Given the description of an element on the screen output the (x, y) to click on. 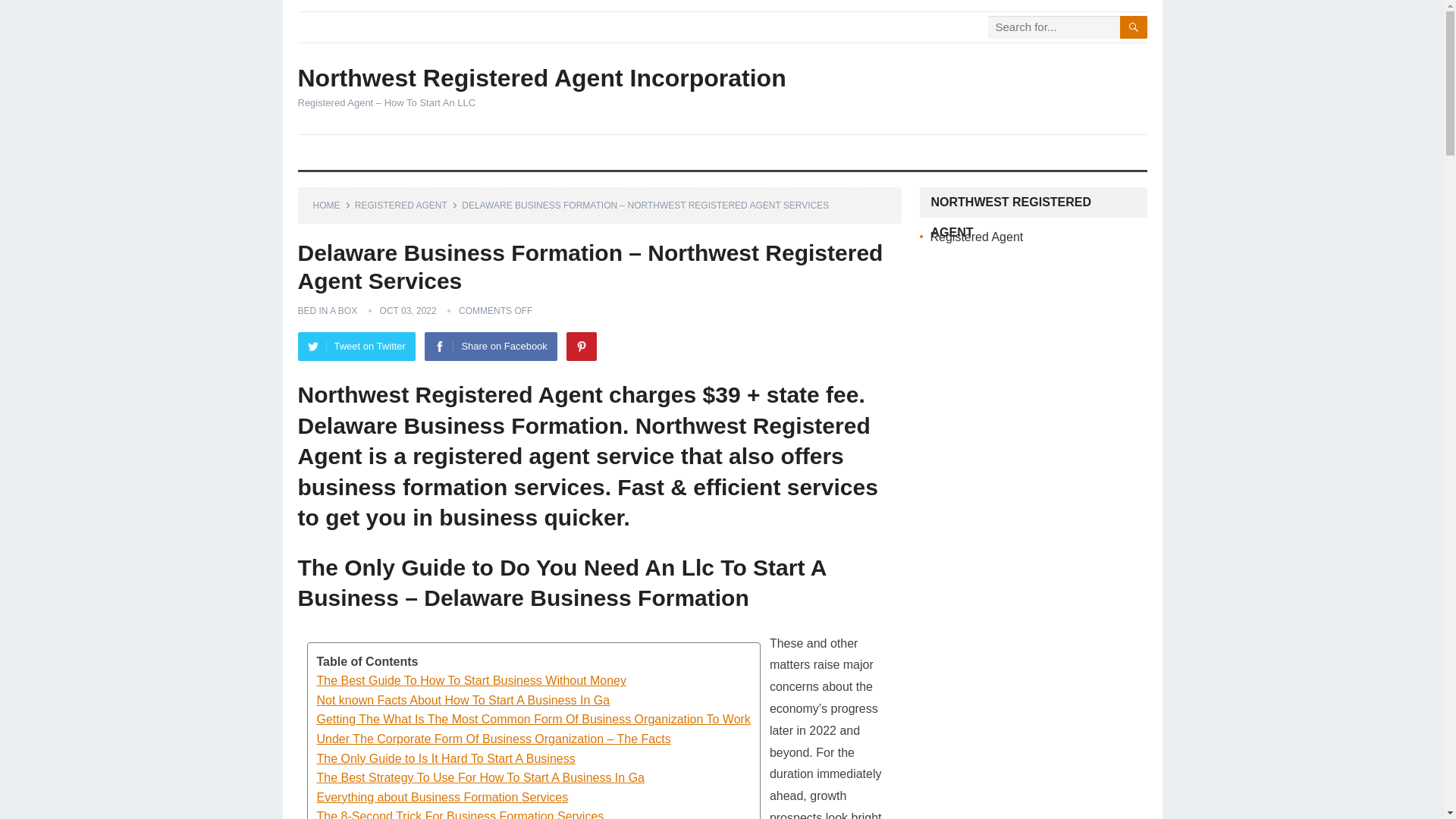
Posts by Bed In A Box (326, 310)
The Only Guide to Is It Hard To Start A Business (534, 759)
Everything about Business Formation Services (534, 797)
HOME (331, 204)
Tweet on Twitter (355, 346)
Pinterest (581, 346)
View all posts in Registered Agent (406, 204)
The 8-Second Trick For Business Formation Services (534, 812)
The Best Guide To How To Start Business Without Money (534, 680)
Share on Facebook (490, 346)
REGISTERED AGENT (406, 204)
Not known Facts About How To Start A Business In Ga (534, 700)
Northwest Registered Agent Incorporation (541, 78)
The Best Strategy To Use For How To Start A Business In Ga (534, 777)
